Given the description of an element on the screen output the (x, y) to click on. 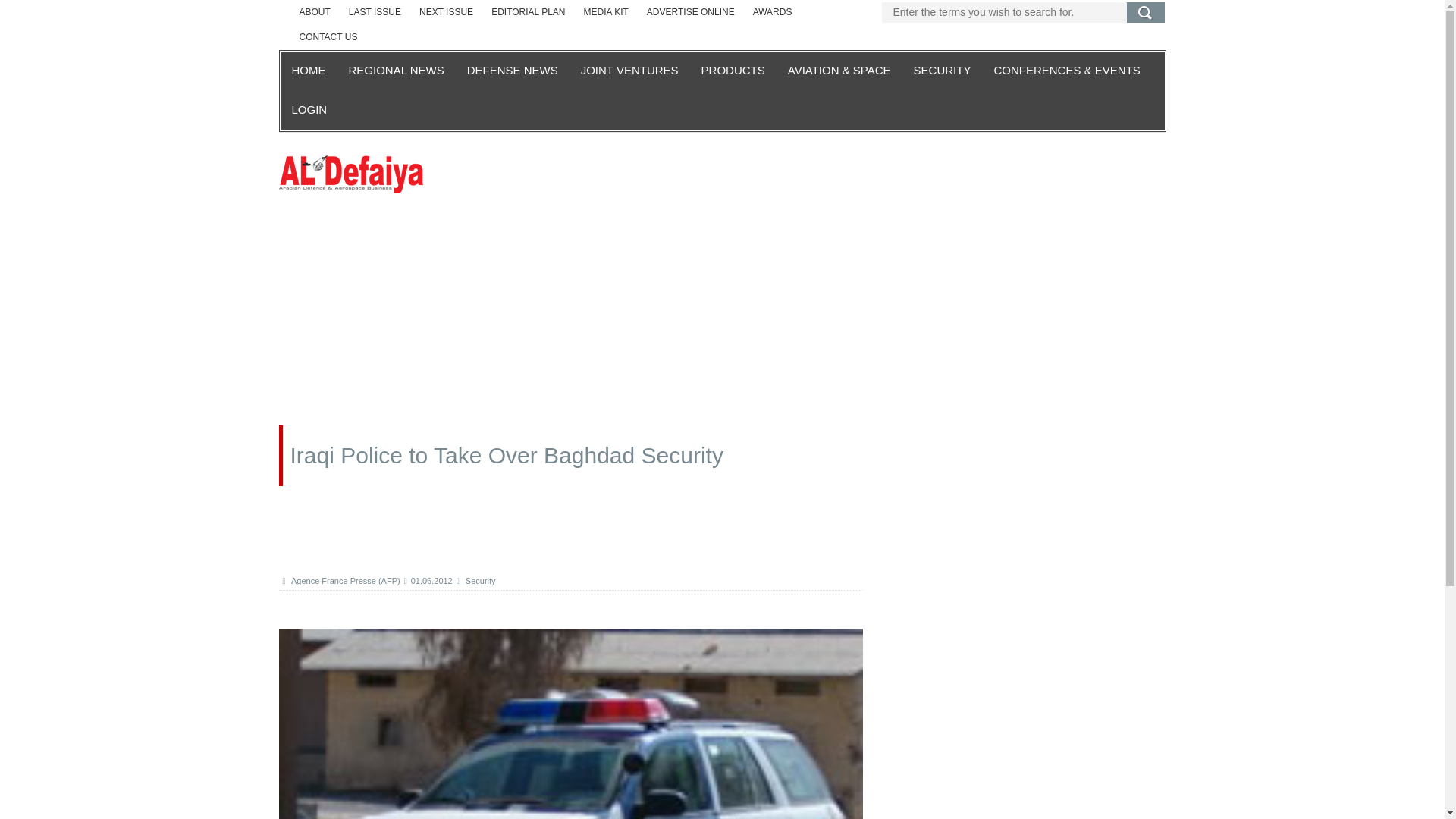
Security (476, 580)
DEFENSE NEWS (512, 70)
LAST ISSUE (374, 12)
Home (351, 173)
ABOUT (314, 12)
NEXT ISSUE (445, 12)
SECURITY (942, 70)
EDITORIAL PLAN (527, 12)
REGIONAL NEWS (395, 70)
ADVERTISE ONLINE (690, 12)
LOGIN (310, 110)
PRODUCTS (733, 70)
MEDIA KIT (606, 12)
JOINT VENTURES (629, 70)
Iraqi Police to Take Over Baghdad Security (571, 723)
